Given the description of an element on the screen output the (x, y) to click on. 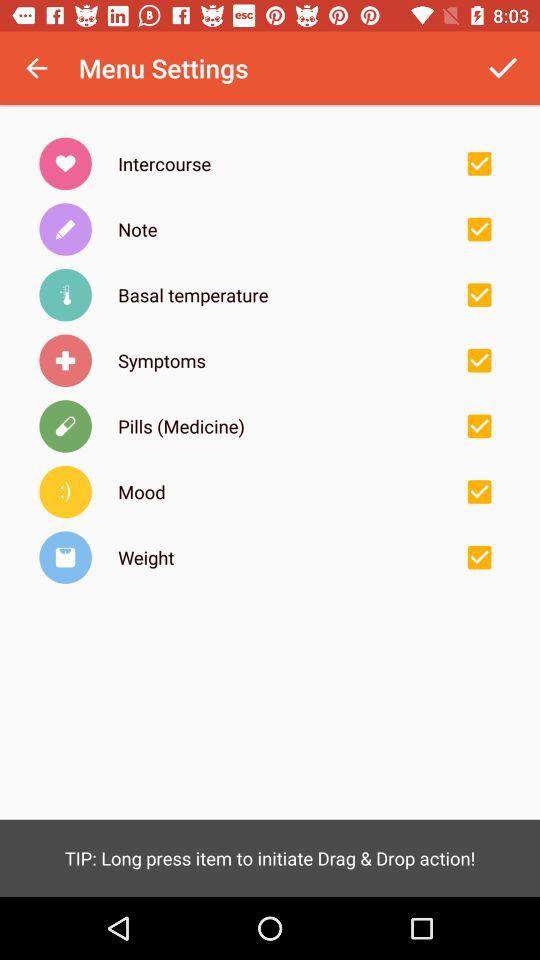
select pills (479, 426)
